Given the description of an element on the screen output the (x, y) to click on. 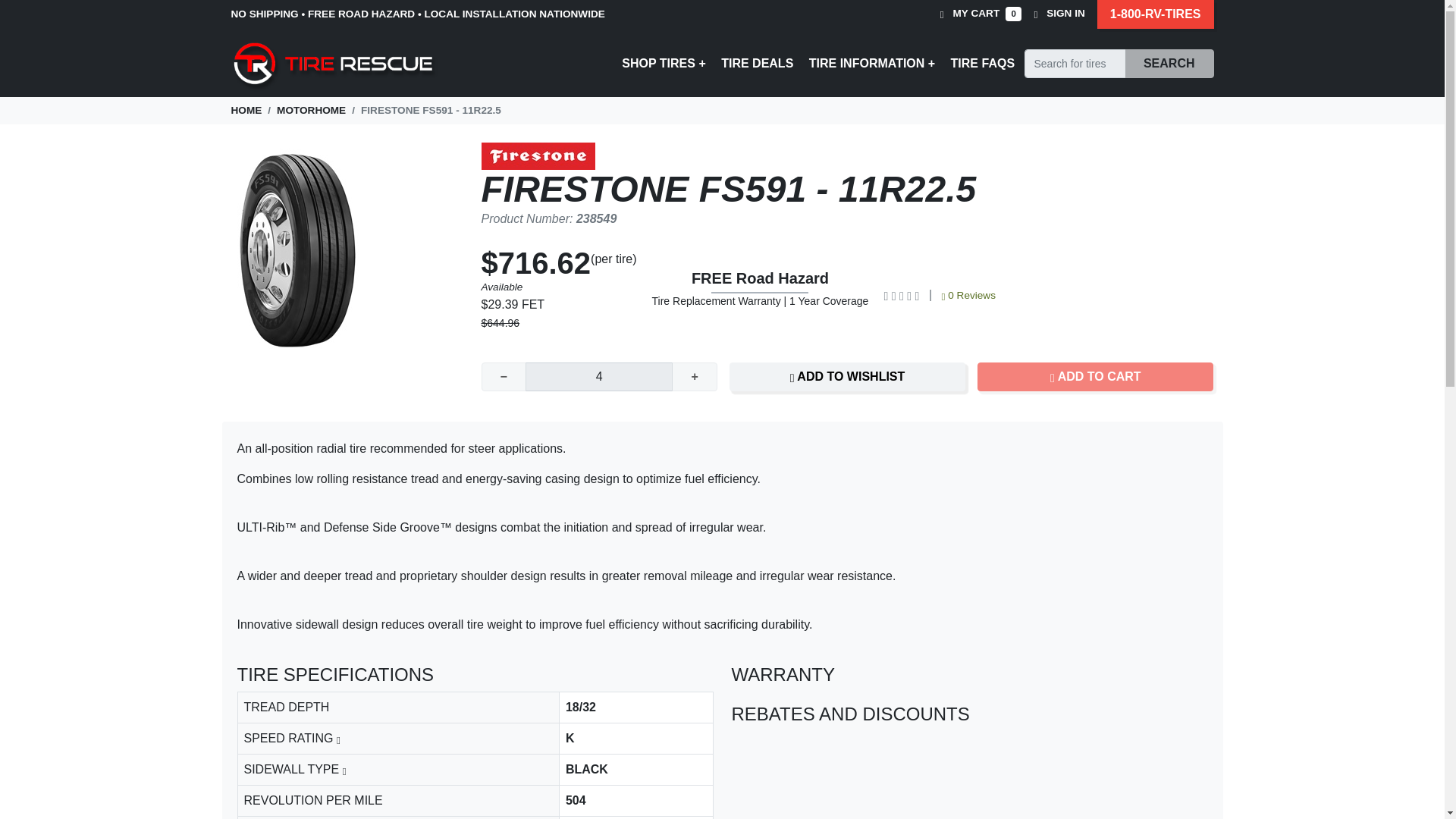
HOME (246, 110)
TIRE FAQS (982, 63)
MY CART 0 (980, 14)
SHOP TIRES (663, 63)
ADD TO CART (1094, 376)
SIGN IN (1058, 14)
4 (598, 376)
TIRE DEALS (756, 63)
ADD TO WISHLIST (847, 376)
1-800-RV-TIRES (1155, 14)
